Given the description of an element on the screen output the (x, y) to click on. 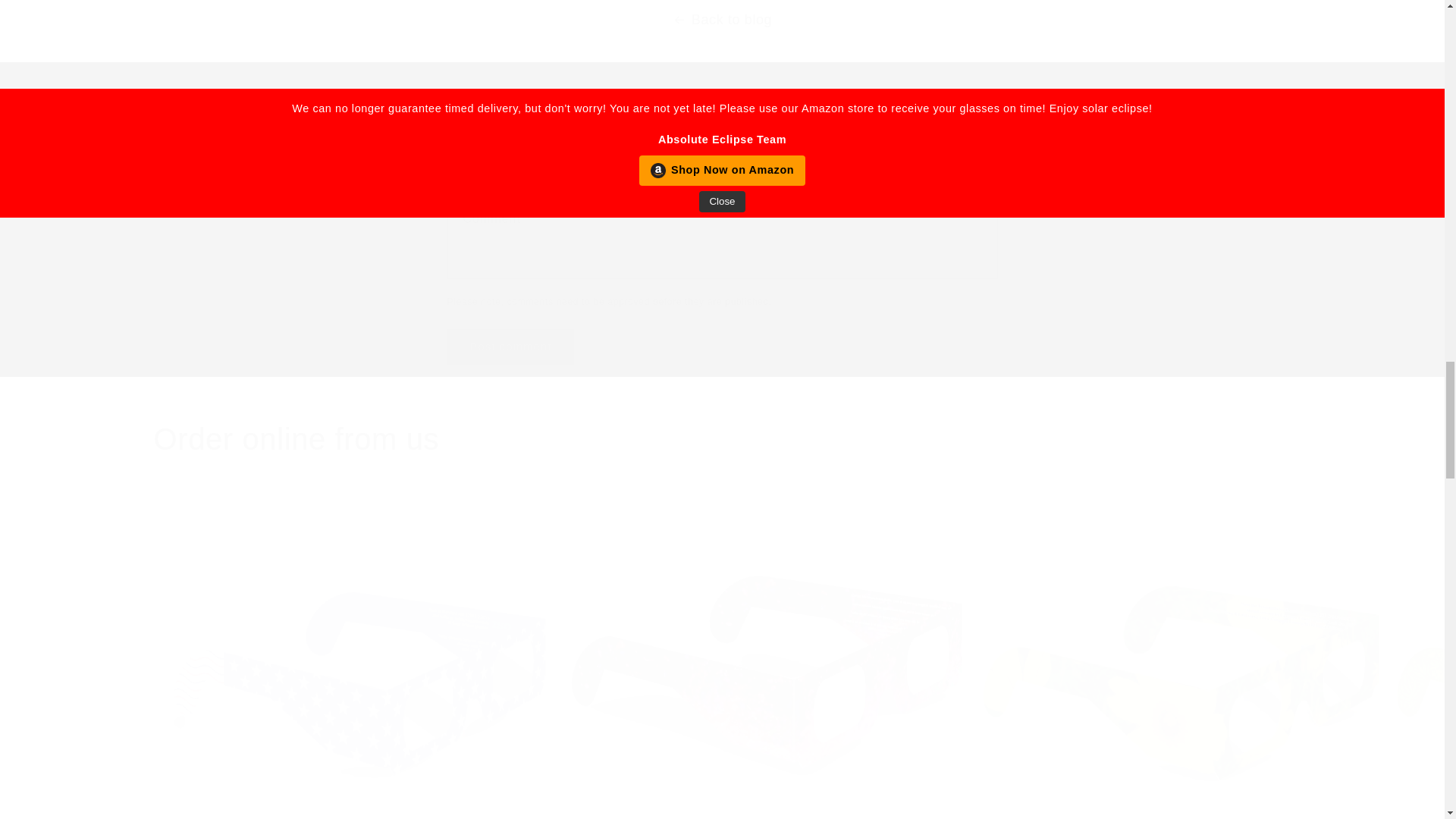
Post comment (721, 438)
